Given the description of an element on the screen output the (x, y) to click on. 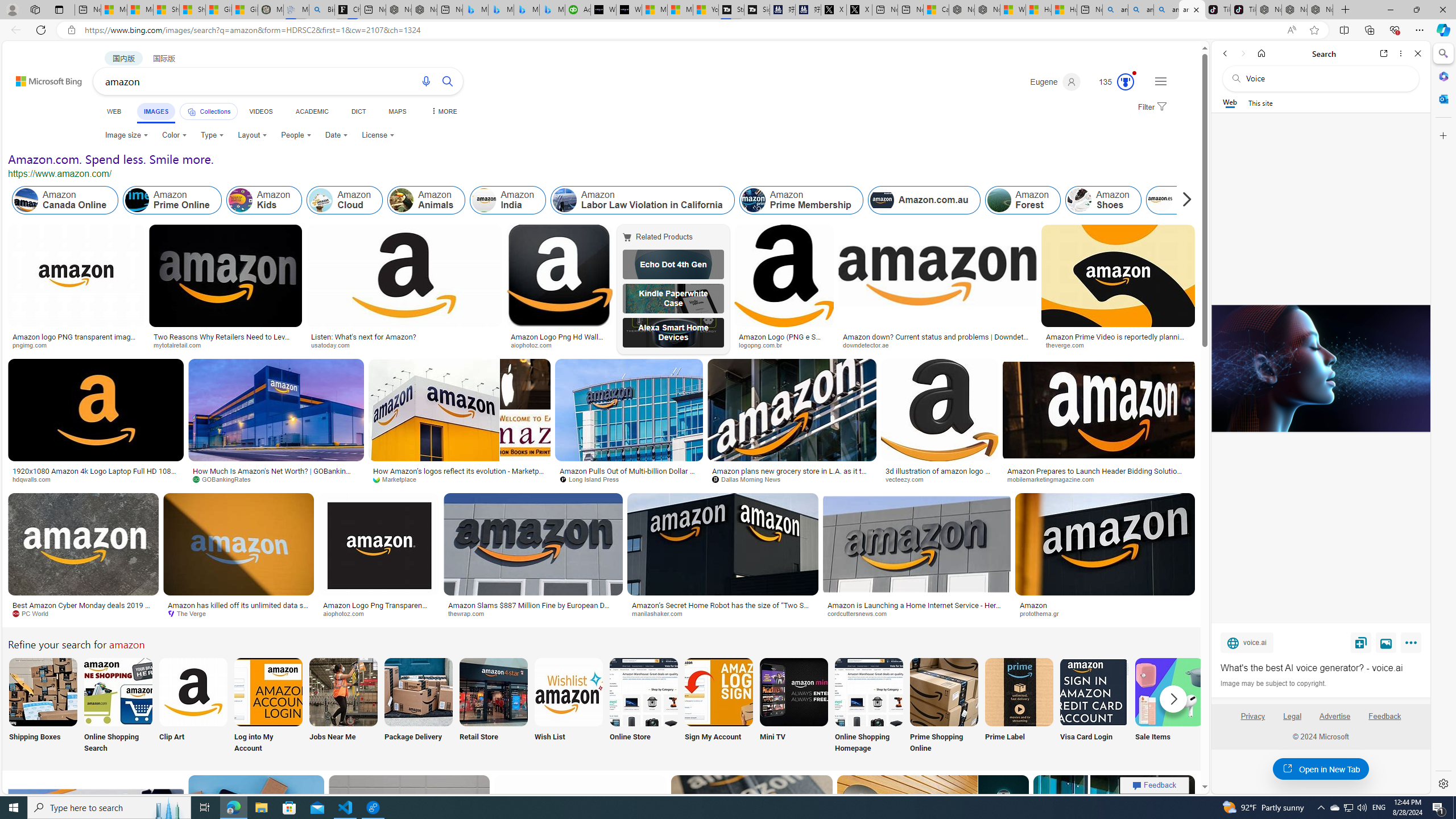
Nordace Siena Pro 15 Backpack (1293, 9)
mytotalretail.com (180, 344)
Open in New Tab (1321, 768)
Advertise (1334, 720)
pngimg.com (34, 344)
Wish List (568, 706)
Amazon Kids (263, 199)
Amazon Package Delivery (418, 691)
Color (173, 135)
